Given the description of an element on the screen output the (x, y) to click on. 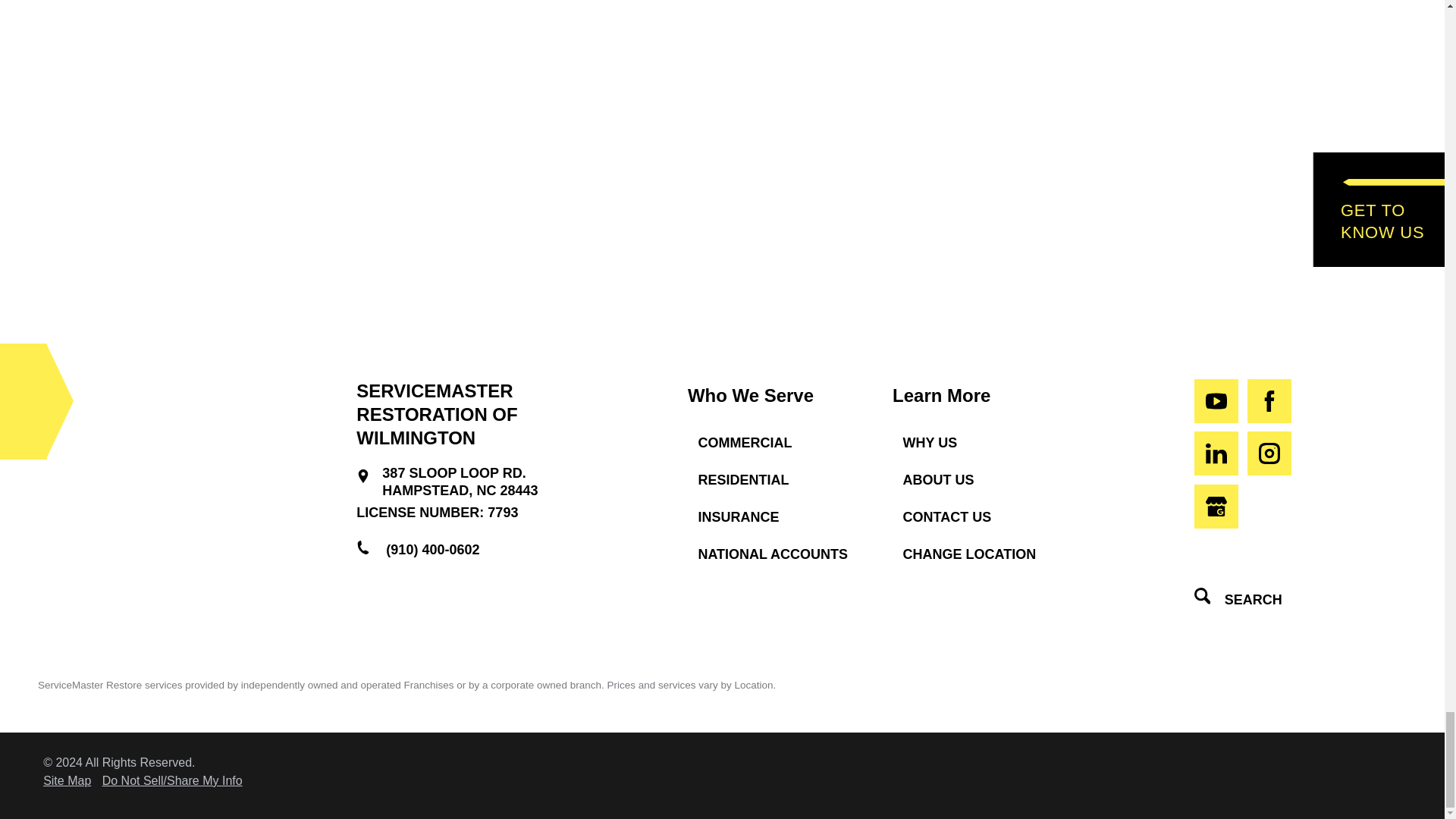
Google My Business (1216, 506)
Instagram (1269, 453)
Facebook (1269, 401)
Youtube (1216, 401)
Linkedin (1216, 453)
